Given the description of an element on the screen output the (x, y) to click on. 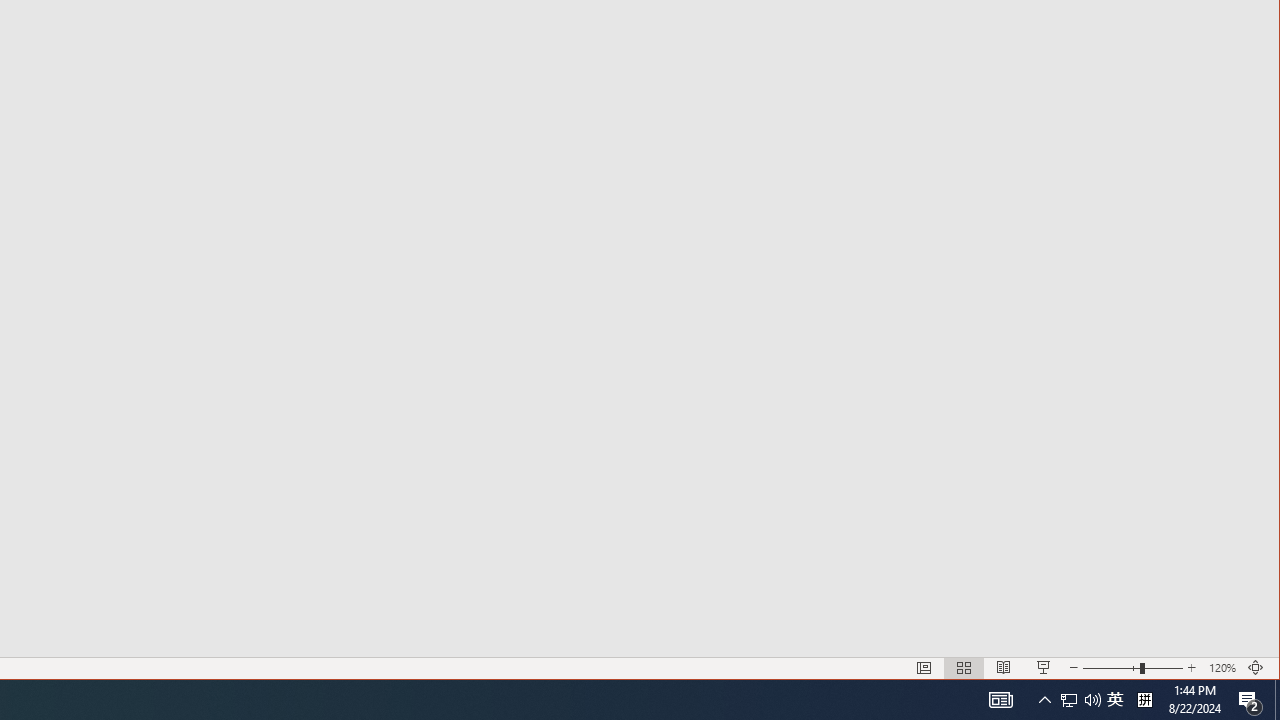
Zoom 120% (1222, 668)
